Given the description of an element on the screen output the (x, y) to click on. 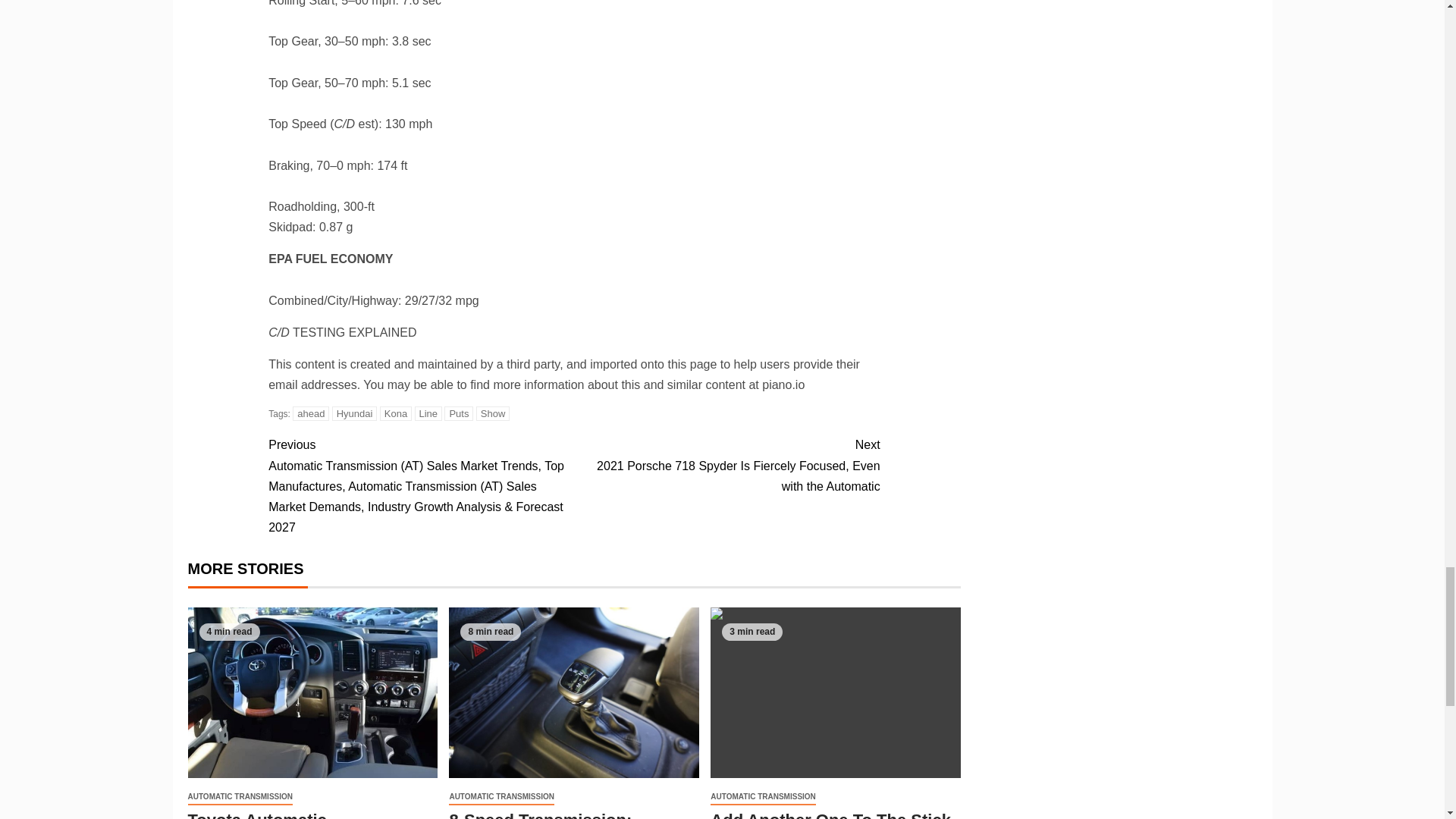
Kona (396, 413)
Hyundai (354, 413)
Toyota Automatic Transmission: Shifting Gears with Precision (312, 692)
Puts (458, 413)
Show (493, 413)
ahead (310, 413)
Line (427, 413)
